Given the description of an element on the screen output the (x, y) to click on. 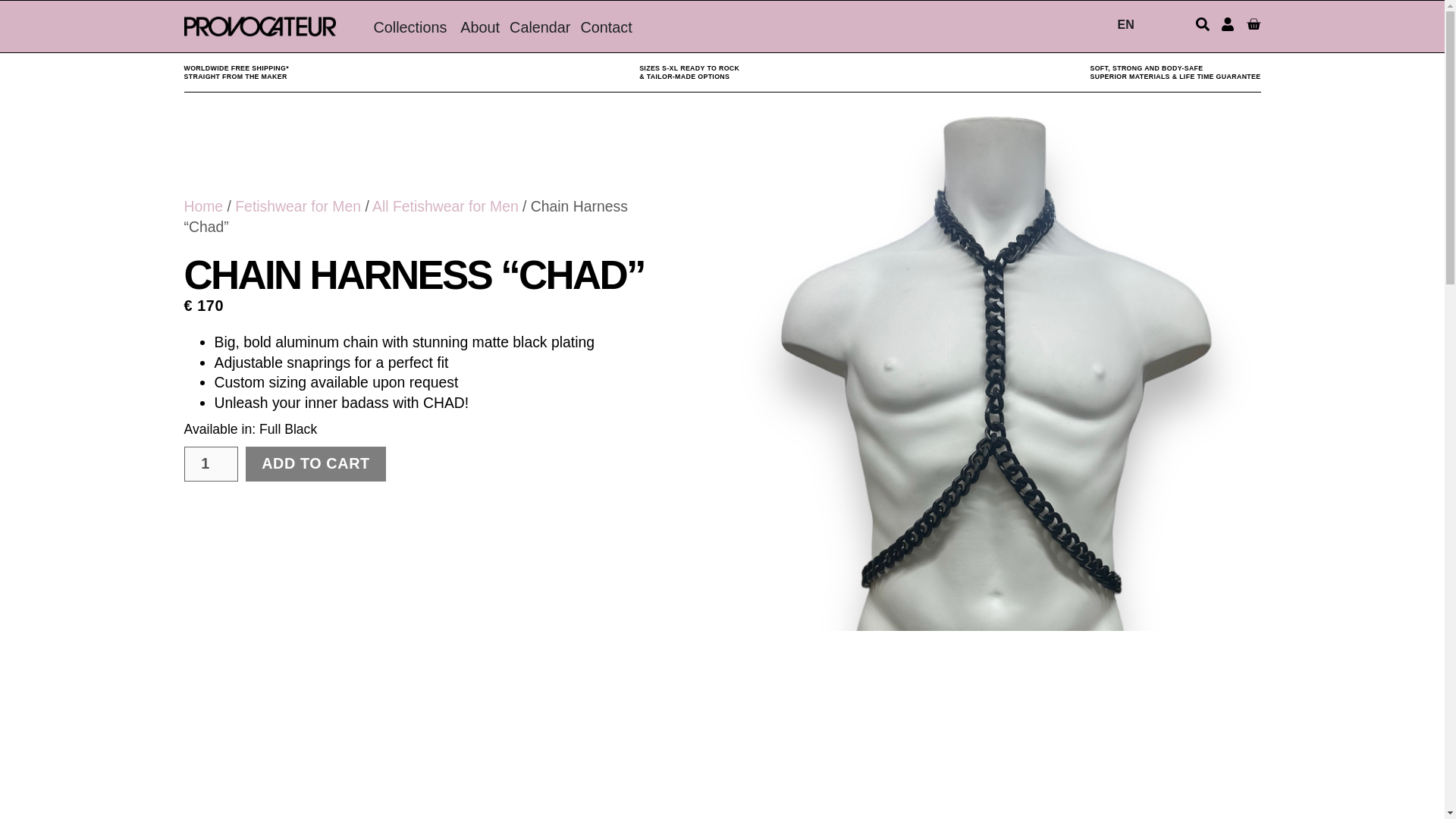
English (1222, 24)
1 (210, 463)
Collections (409, 27)
